Given the description of an element on the screen output the (x, y) to click on. 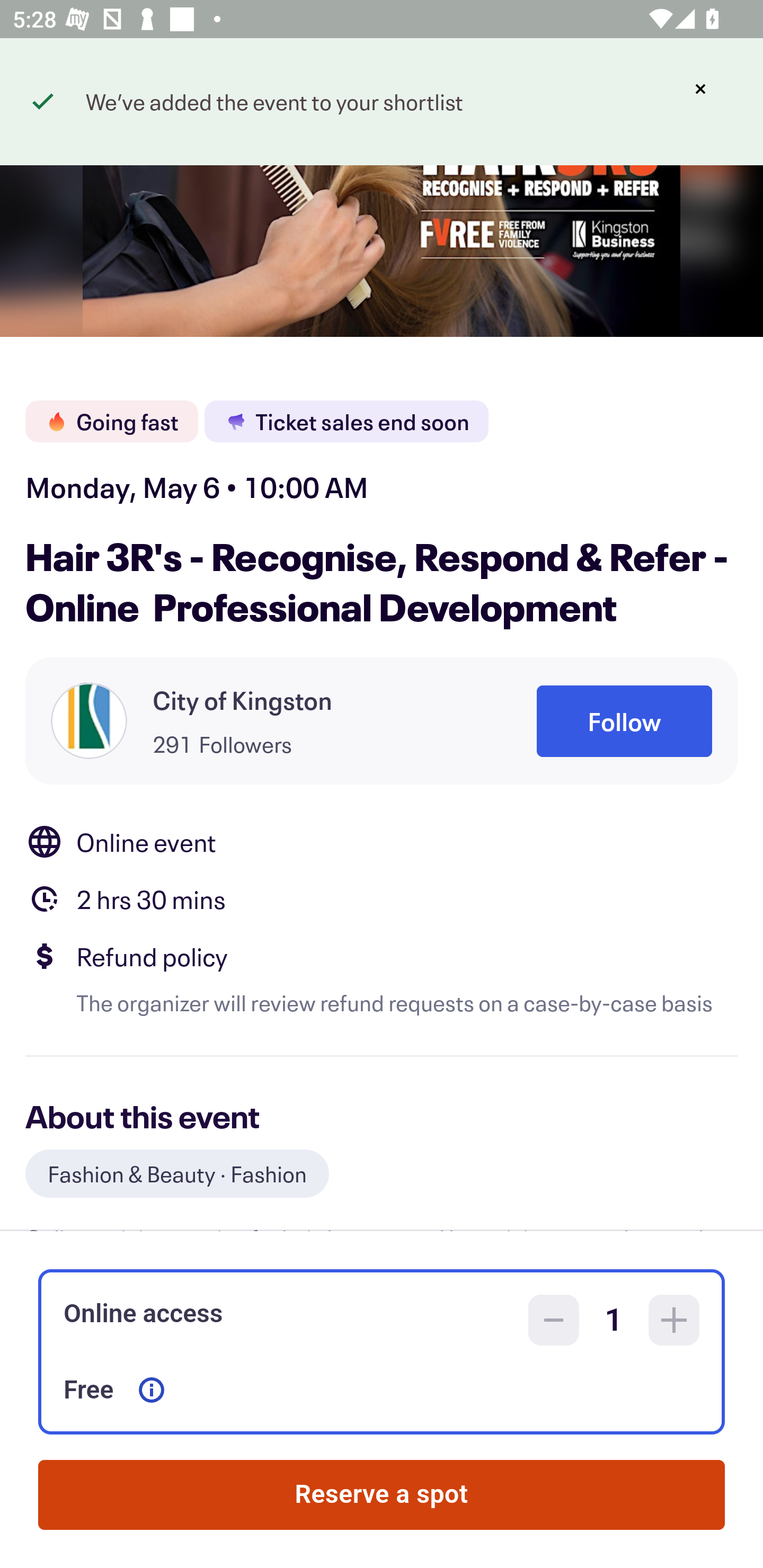
Dismiss notification (700, 89)
Back (57, 94)
City of Kingston (242, 699)
Organizer profile picture (89, 720)
Follow (623, 720)
Location Online event (381, 840)
